Given the description of an element on the screen output the (x, y) to click on. 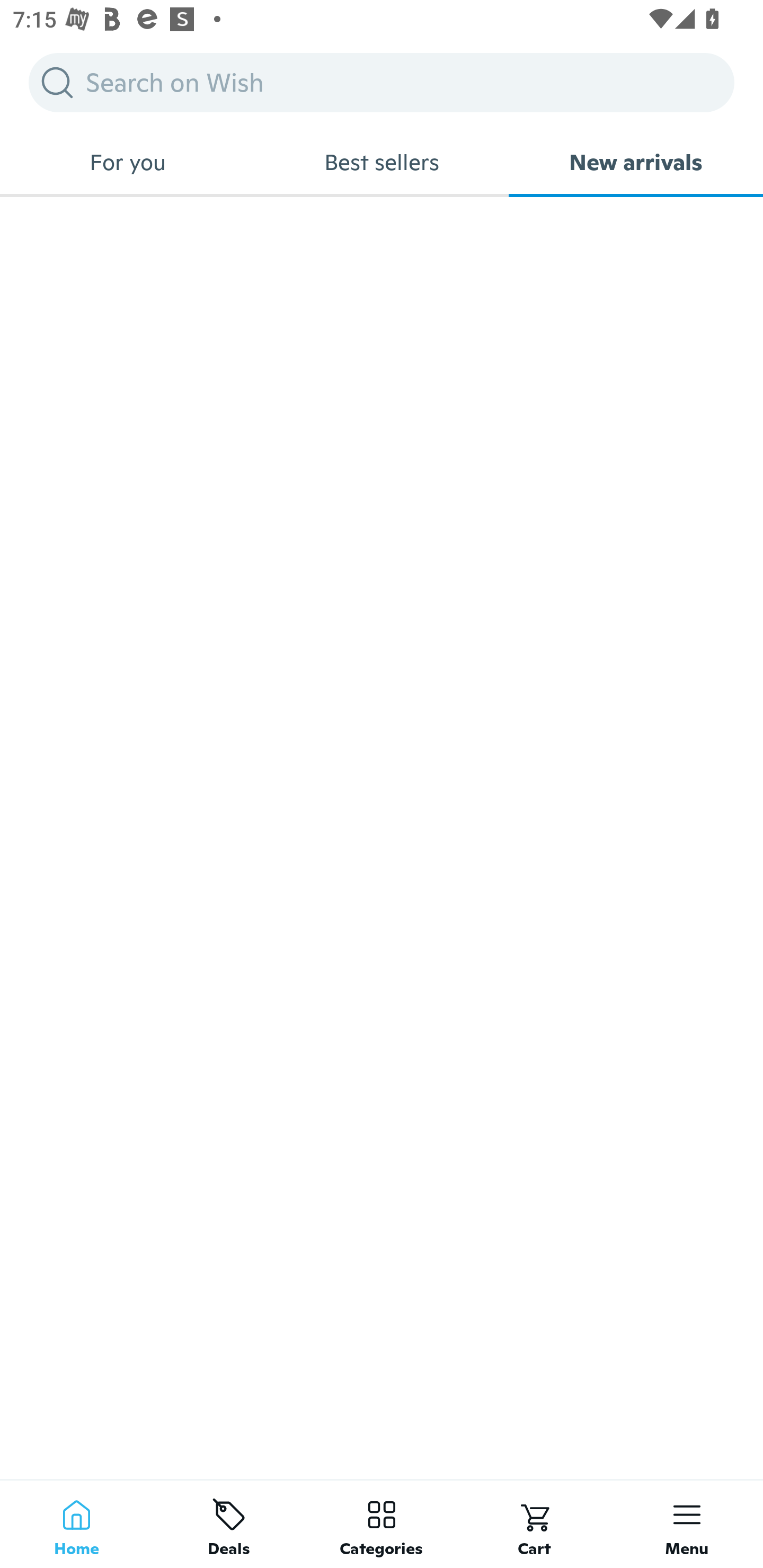
Search on Wish (381, 82)
For you (127, 161)
Best sellers (381, 161)
New arrivals (635, 161)
Home (76, 1523)
Deals (228, 1523)
Categories (381, 1523)
Cart (533, 1523)
Menu (686, 1523)
